Given the description of an element on the screen output the (x, y) to click on. 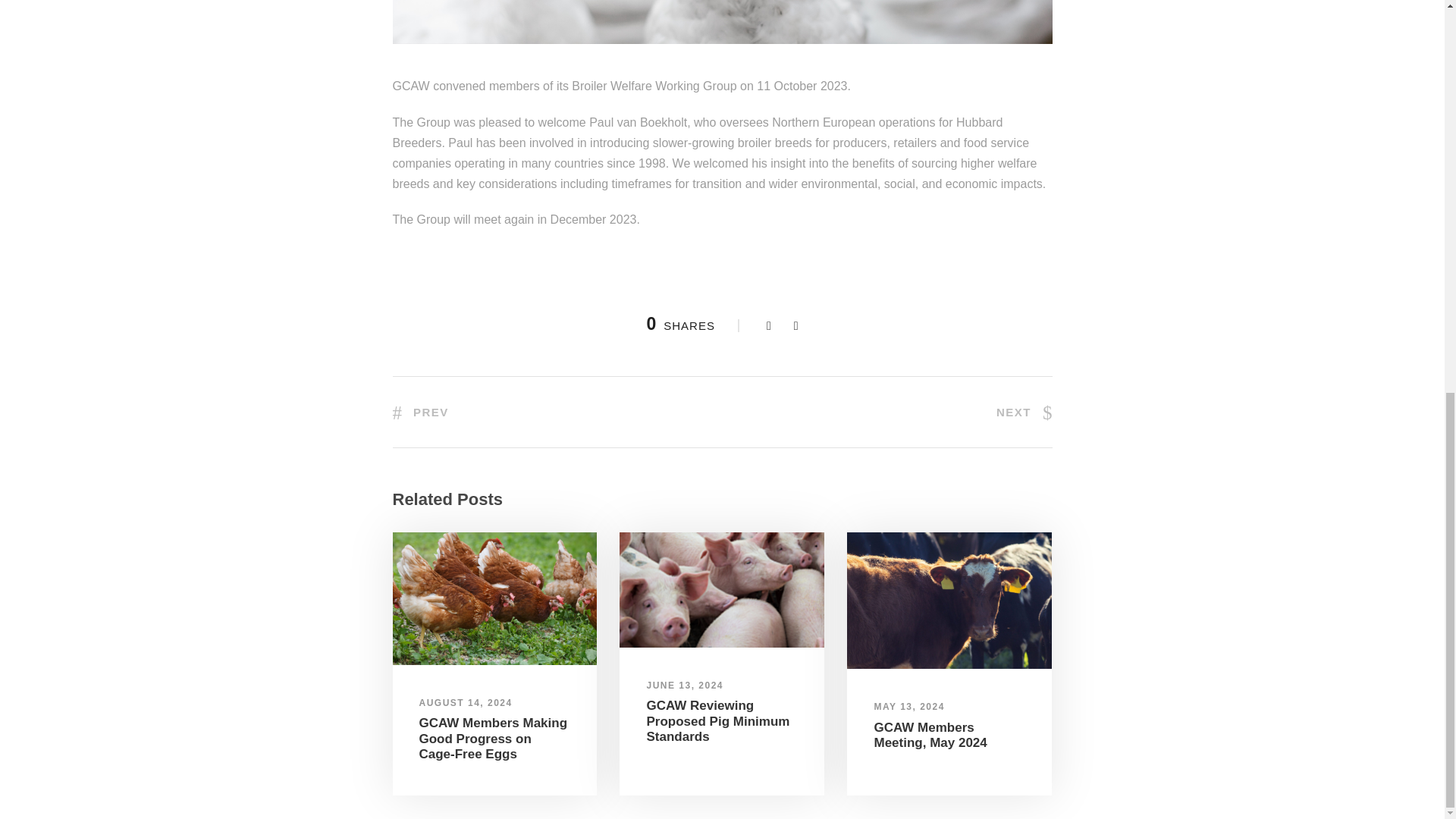
PREV (420, 411)
GCAW Reviewing Proposed Pig Minimum Standards (717, 720)
NEXT (1023, 411)
JUNE 13, 2024 (684, 685)
Slider-01 (949, 600)
AUGUST 14, 2024 (465, 702)
GCAW Members Making Good Progress on Cage-Free Eggs (493, 738)
MAY 13, 2024 (908, 706)
